Given the description of an element on the screen output the (x, y) to click on. 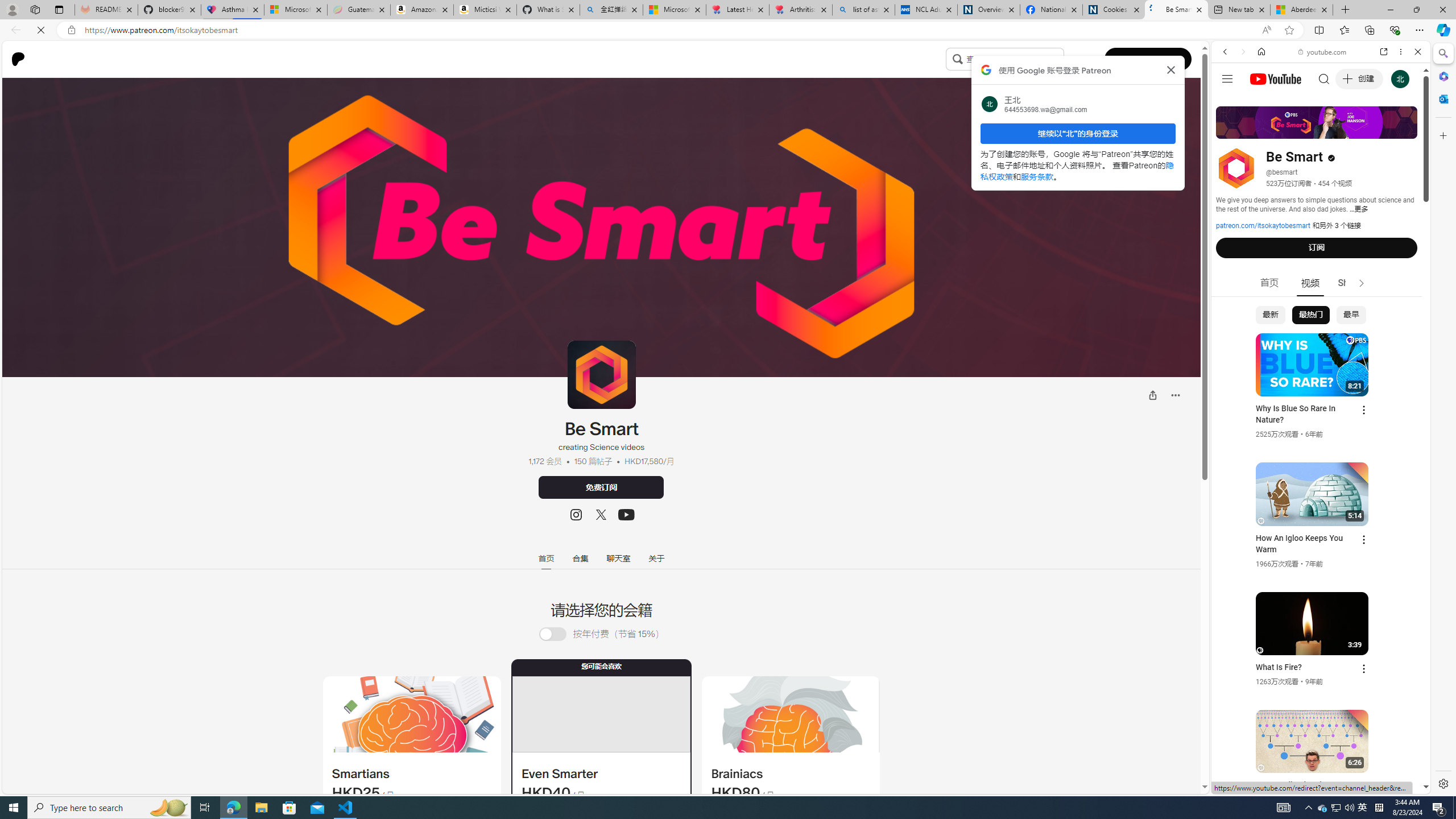
Class: style-scope tp-yt-iron-icon (1361, 283)
YouTube (1315, 655)
patreon.com/itsokaytobesmart (1262, 225)
